Given the description of an element on the screen output the (x, y) to click on. 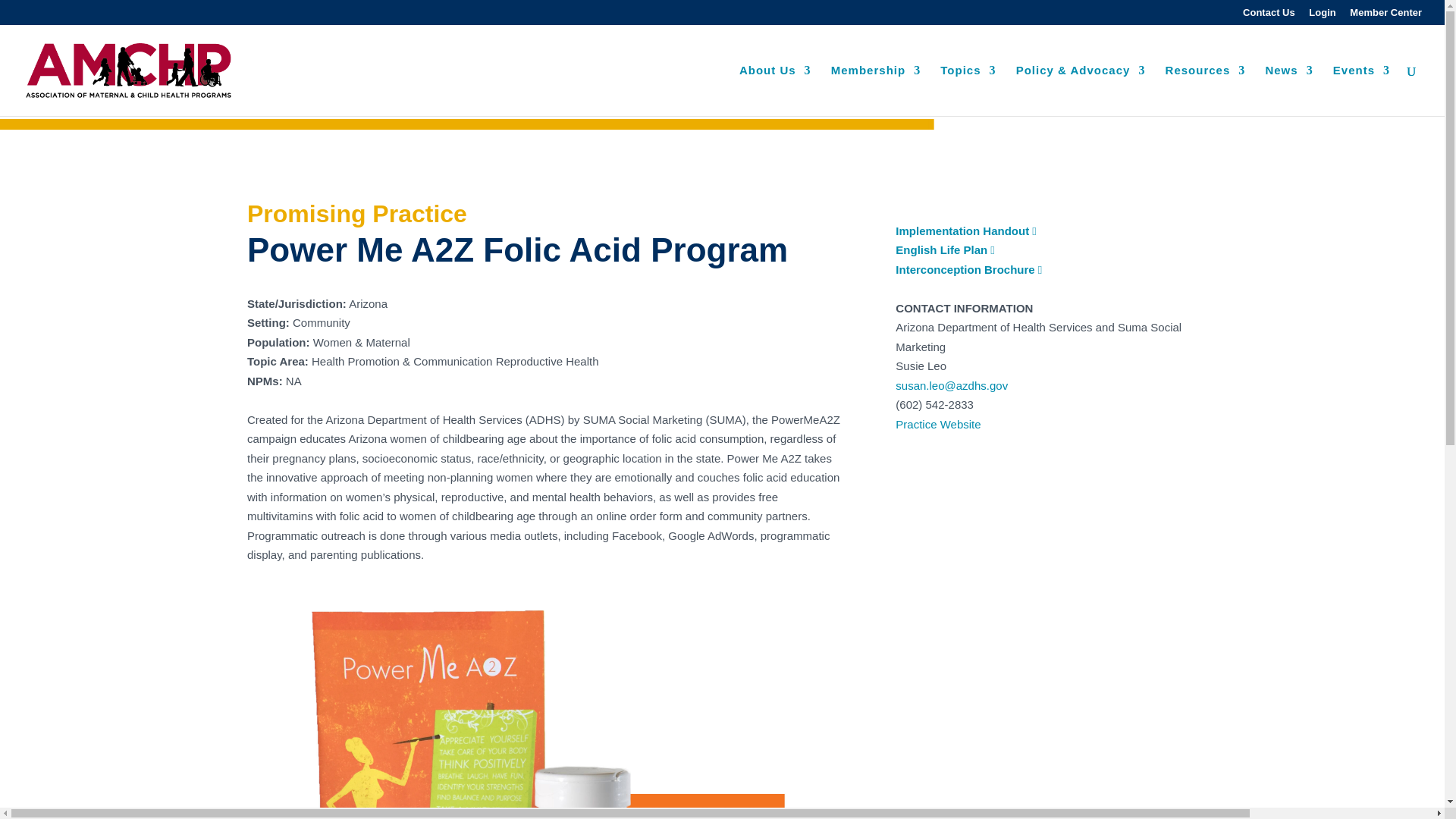
Topics (967, 90)
Member Center (1385, 16)
Login (1321, 16)
About Us (774, 90)
Membership (875, 90)
Contact Us (1269, 16)
